Given the description of an element on the screen output the (x, y) to click on. 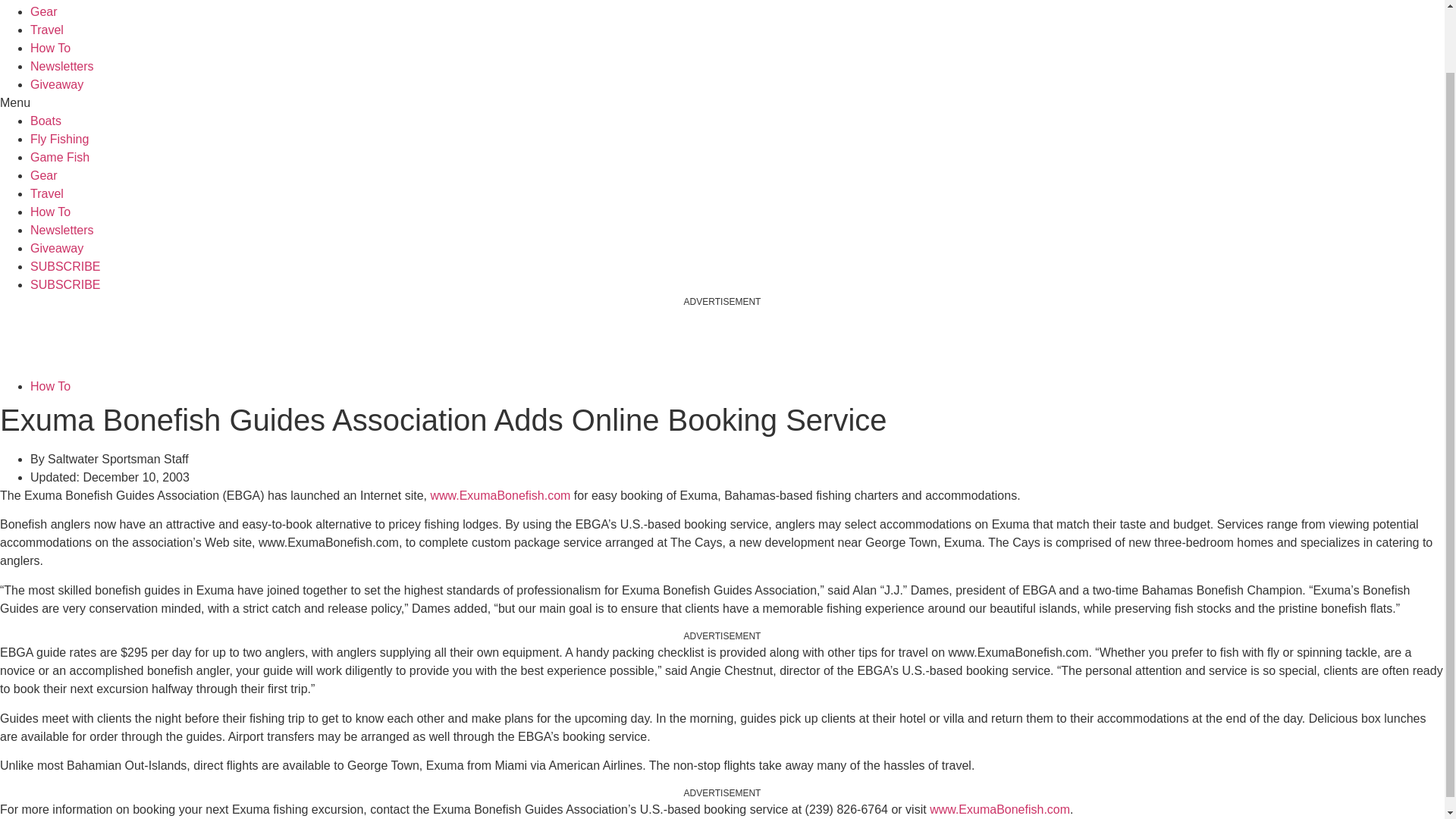
How To (49, 47)
Newsletters (62, 65)
Boats (45, 120)
Travel (47, 29)
Giveaway (56, 83)
Gear (44, 11)
Game Fish (59, 156)
Fly Fishing (59, 138)
